Given the description of an element on the screen output the (x, y) to click on. 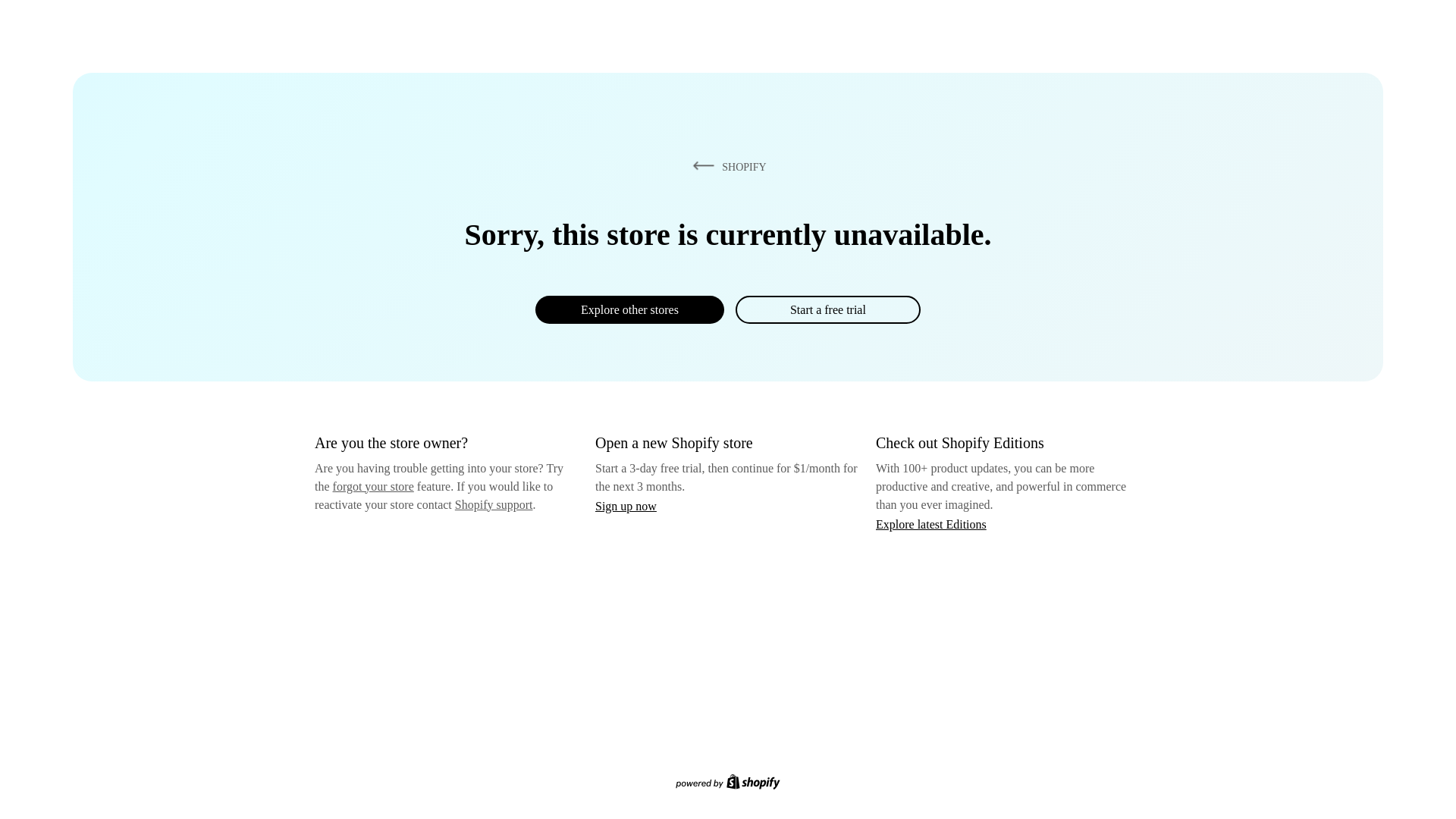
Explore other stores (629, 309)
Explore latest Editions (931, 523)
Sign up now (625, 505)
forgot your store (373, 486)
SHOPIFY (726, 166)
Start a free trial (827, 309)
Shopify support (493, 504)
